Given the description of an element on the screen output the (x, y) to click on. 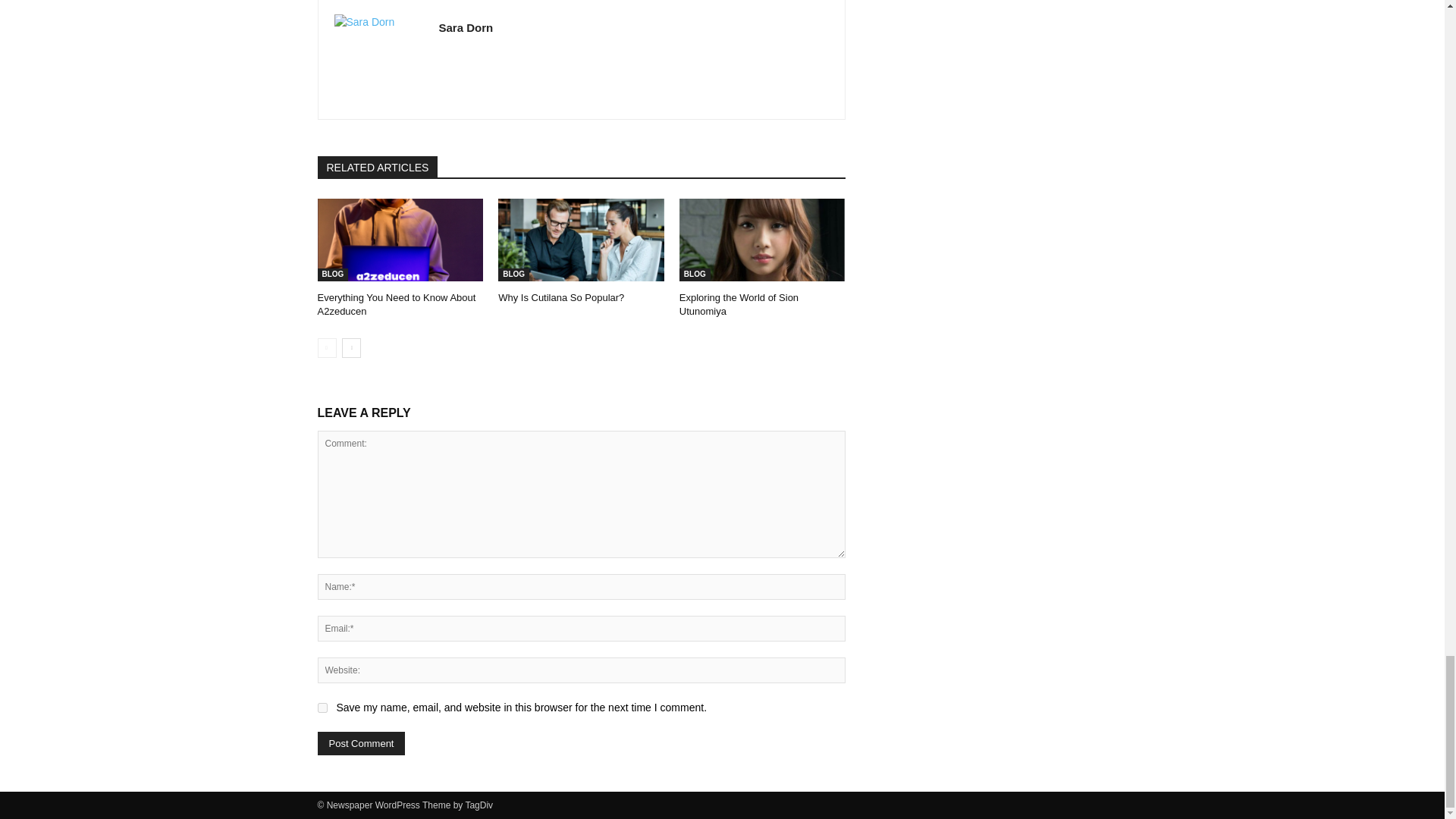
yes (321, 707)
Everything You Need to Know About A2zeducen (400, 240)
Post Comment (360, 743)
Sara Dorn (377, 58)
